Given the description of an element on the screen output the (x, y) to click on. 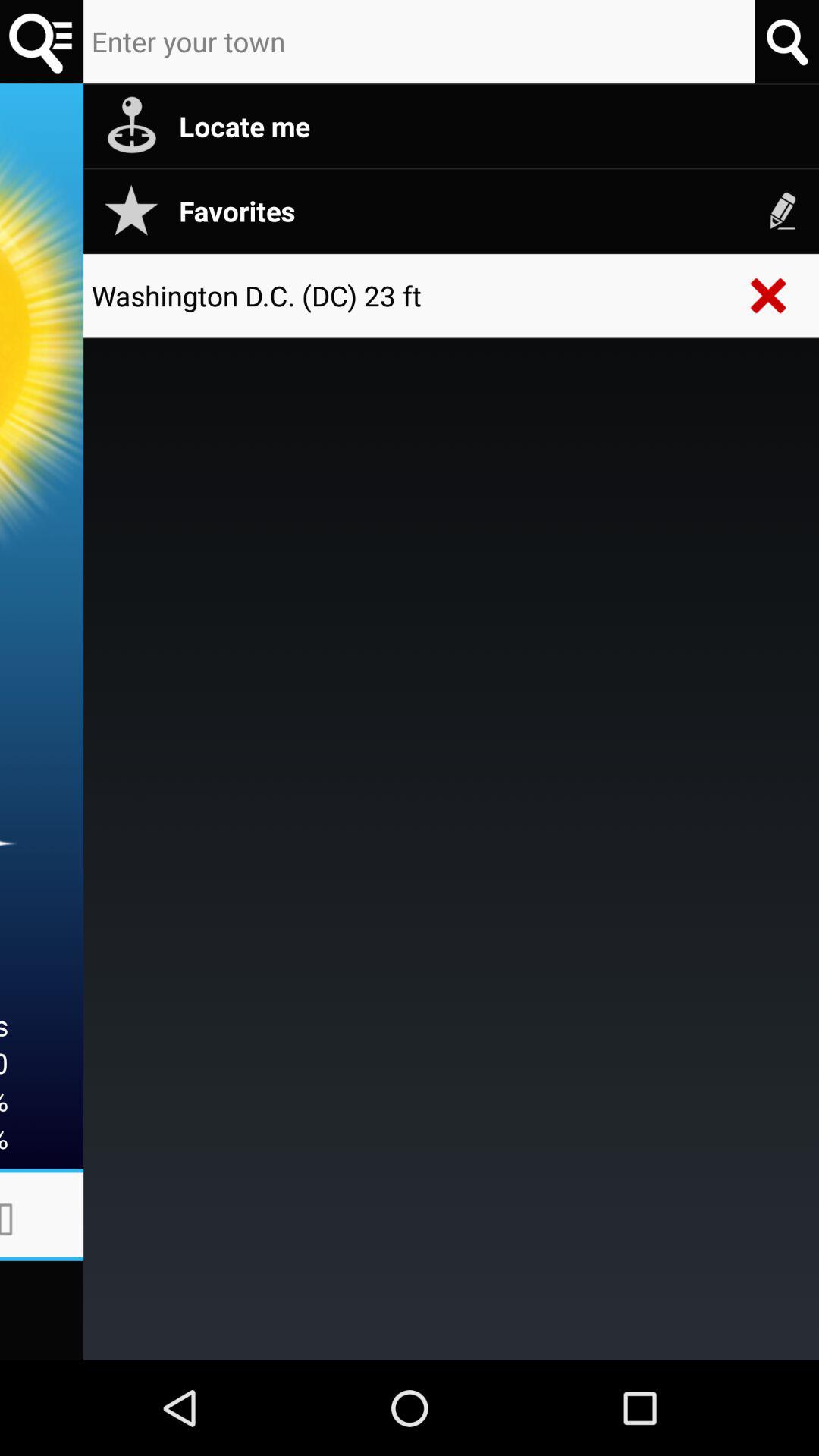
press item below locate me item (783, 210)
